Given the description of an element on the screen output the (x, y) to click on. 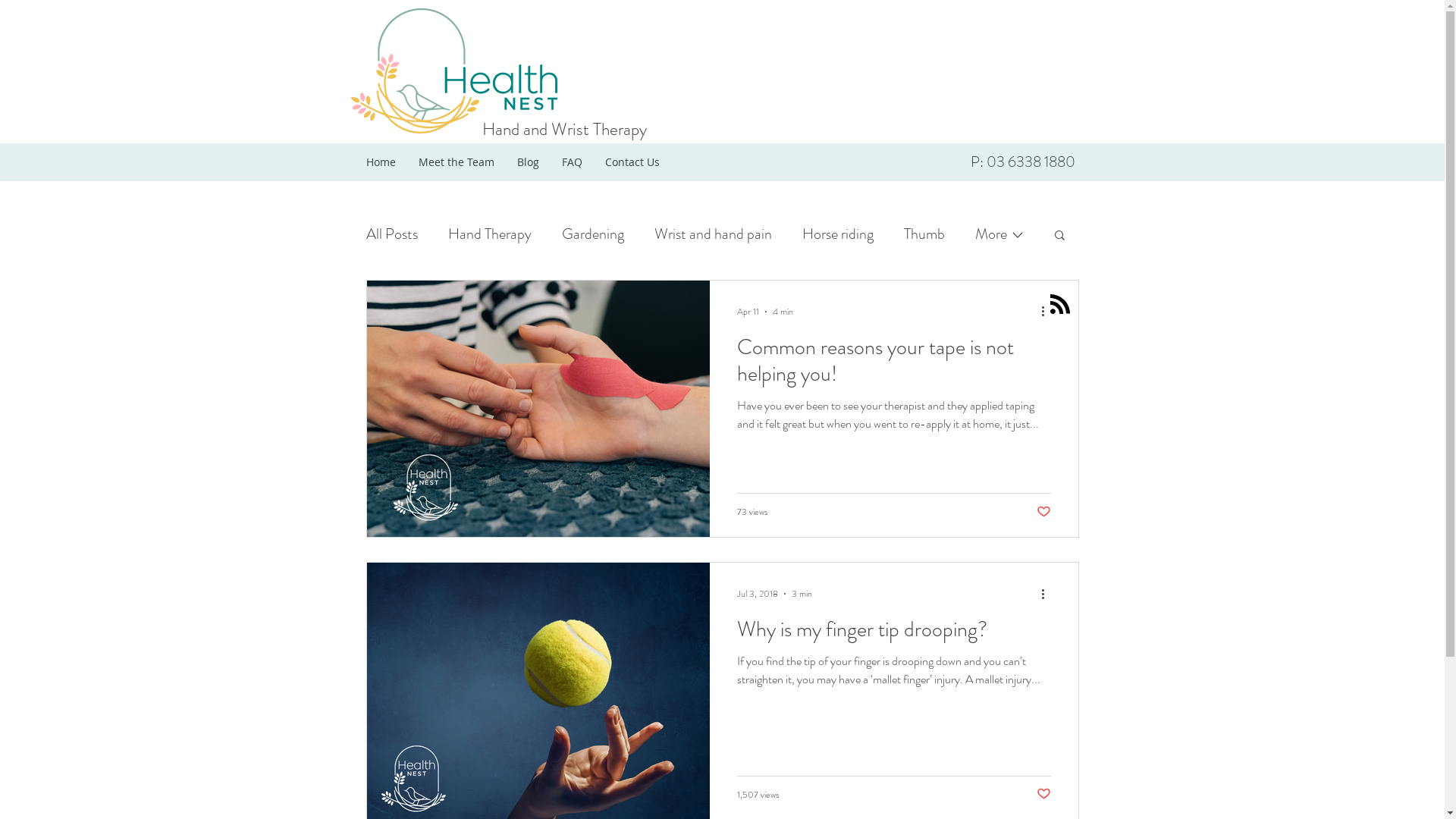
FAQ Element type: text (571, 161)
Meet the Team Element type: text (455, 161)
Thumb Element type: text (923, 233)
Home Element type: text (380, 161)
Hand Therapy Element type: text (488, 233)
All Posts Element type: text (391, 233)
Post not marked as liked Element type: text (1042, 512)
Contact Us Element type: text (631, 161)
Horse riding Element type: text (837, 233)
Blog Element type: text (527, 161)
Post not marked as liked Element type: text (1042, 794)
Gardening Element type: text (592, 233)
Wrist and hand pain Element type: text (712, 233)
Why is my finger tip drooping? Element type: text (894, 633)
Common reasons your tape is not helping you! Element type: text (894, 364)
